Given the description of an element on the screen output the (x, y) to click on. 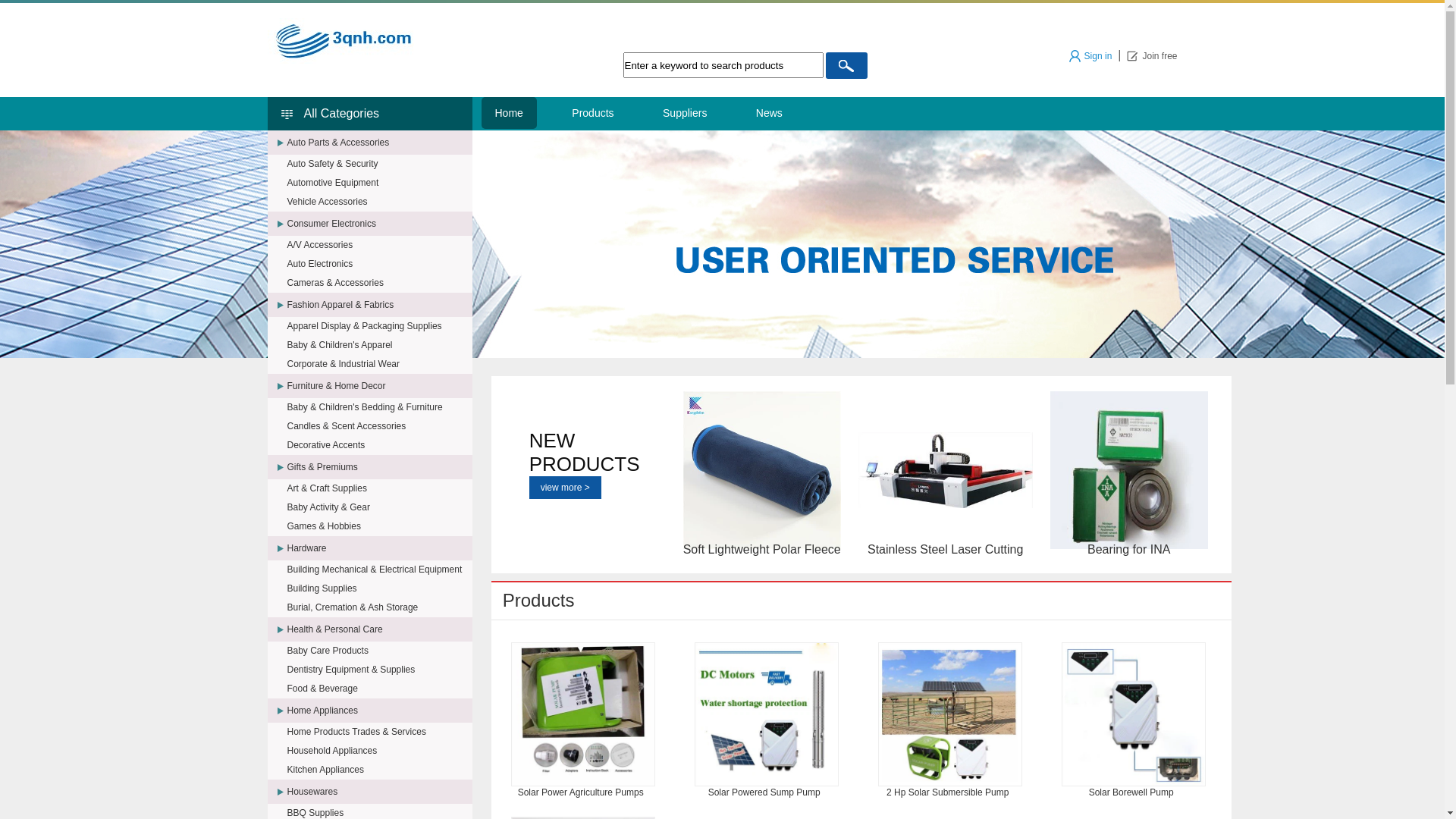
Soft Lightweight Polar Fleece Blanket Element type: text (761, 470)
Solar Powered Sump Pump Element type: text (766, 714)
Kitchen Appliances Element type: text (378, 769)
Products Element type: text (592, 112)
Burial, Cremation & Ash Storage Element type: text (378, 607)
Auto Safety & Security Element type: text (378, 163)
Furniture & Home Decor Element type: text (378, 385)
Housewares Element type: text (378, 791)
Decorative Accents Element type: text (378, 445)
Home Products Trades & Services Element type: text (378, 731)
Games & Hobbies Element type: text (378, 526)
Suppliers Element type: text (684, 112)
Food & Beverage Element type: text (378, 688)
2 Hp Solar Submersible Pump Element type: text (949, 714)
Baby Care Products Element type: text (378, 650)
Corporate & Industrial Wear Element type: text (378, 363)
Gifts & Premiums Element type: text (378, 467)
Stainless Steel Laser Cutting Machine Element type: text (945, 470)
Auto Parts & Accessories Element type: text (378, 142)
Consumer Electronics Element type: text (378, 223)
view more > Element type: text (565, 487)
Household Appliances Element type: text (378, 750)
Apparel Display & Packaging Supplies Element type: text (378, 325)
Solar Borewell Pump Element type: text (1133, 714)
Auto Electronics Element type: text (378, 263)
Bearing for INA Element type: text (1128, 470)
Join free Element type: text (1151, 55)
Hardware Element type: text (378, 548)
Home Appliances Element type: text (378, 710)
Automotive Equipment Element type: text (378, 182)
Baby & Children's Bedding & Furniture Element type: text (378, 407)
Building Mechanical & Electrical Equipment Element type: text (378, 569)
A/V Accessories Element type: text (378, 244)
Dentistry Equipment & Supplies Element type: text (378, 669)
Health & Personal Care Element type: text (378, 629)
Candles & Scent Accessories Element type: text (378, 426)
Sign in Element type: text (1090, 55)
Solar Power Agriculture Pumps Element type: text (582, 714)
Fashion Apparel & Fabrics Element type: text (378, 304)
Building Supplies Element type: text (378, 588)
Baby & Children's Apparel Element type: text (378, 344)
Cameras & Accessories Element type: text (378, 282)
Home Element type: text (508, 112)
Baby Activity & Gear Element type: text (378, 507)
News Element type: text (769, 112)
Vehicle Accessories Element type: text (378, 201)
Art & Craft Supplies Element type: text (378, 488)
